Given the description of an element on the screen output the (x, y) to click on. 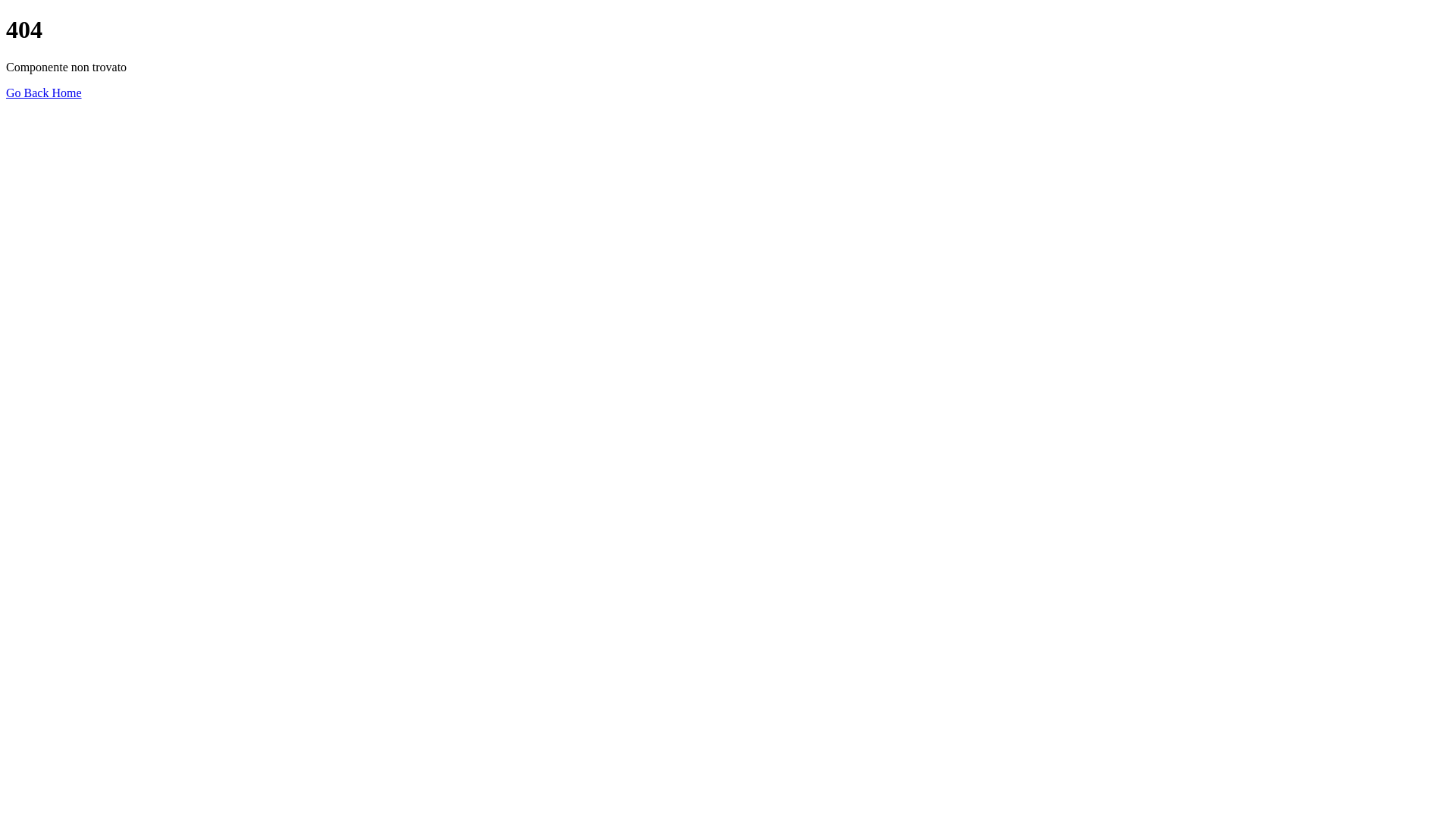
Go Back Home Element type: text (43, 92)
